Given the description of an element on the screen output the (x, y) to click on. 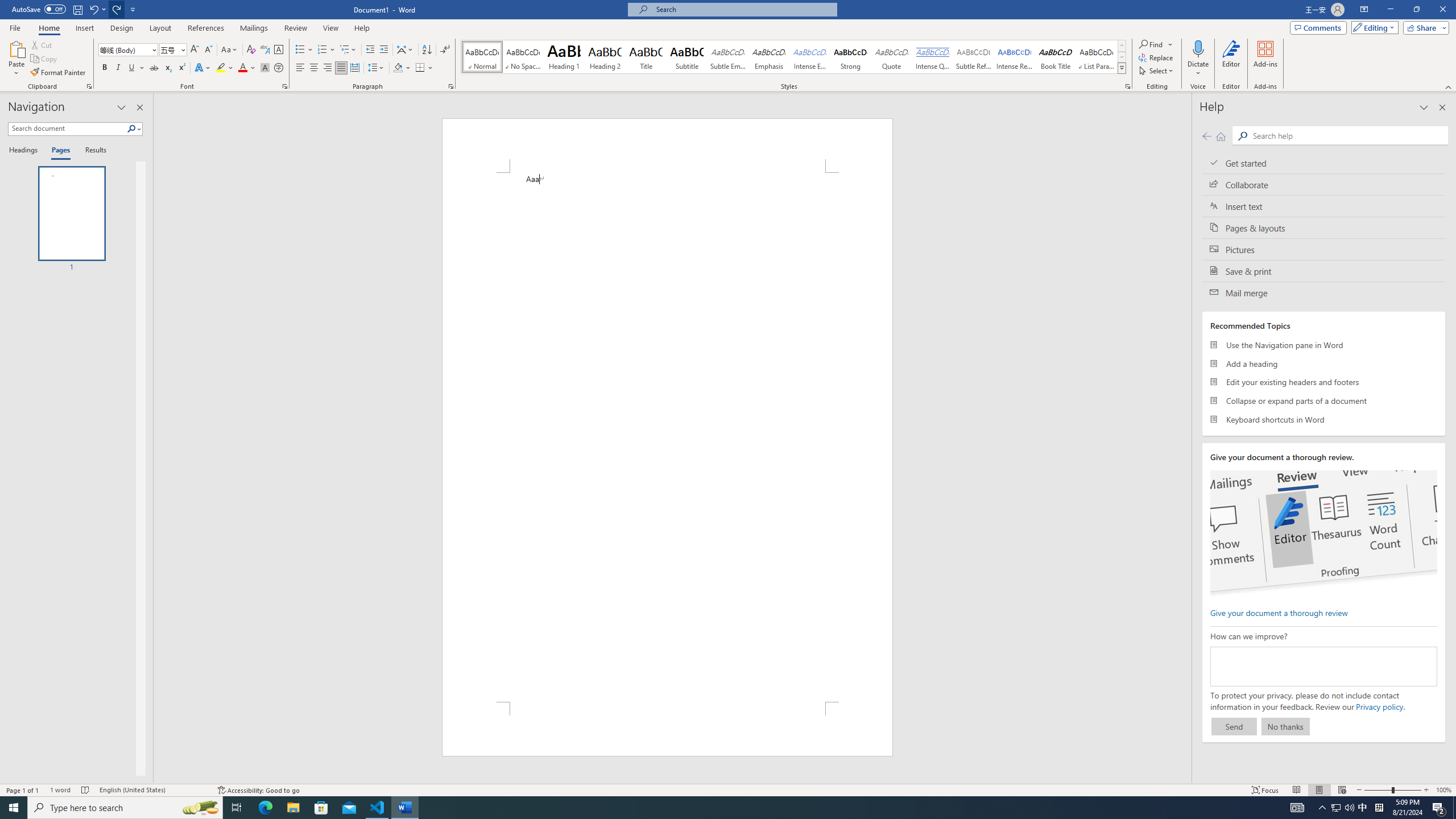
Font (124, 49)
Show/Hide Editing Marks (444, 49)
editor ui screenshot (1323, 533)
Styles (1121, 67)
Align Right (327, 67)
Help (361, 28)
Add a heading (1323, 363)
Distributed (354, 67)
AutoSave (38, 9)
Quick Access Toolbar (74, 9)
Search (1347, 135)
View (330, 28)
Phonetic Guide... (264, 49)
Zoom 100% (1443, 790)
Numbering (322, 49)
